Given the description of an element on the screen output the (x, y) to click on. 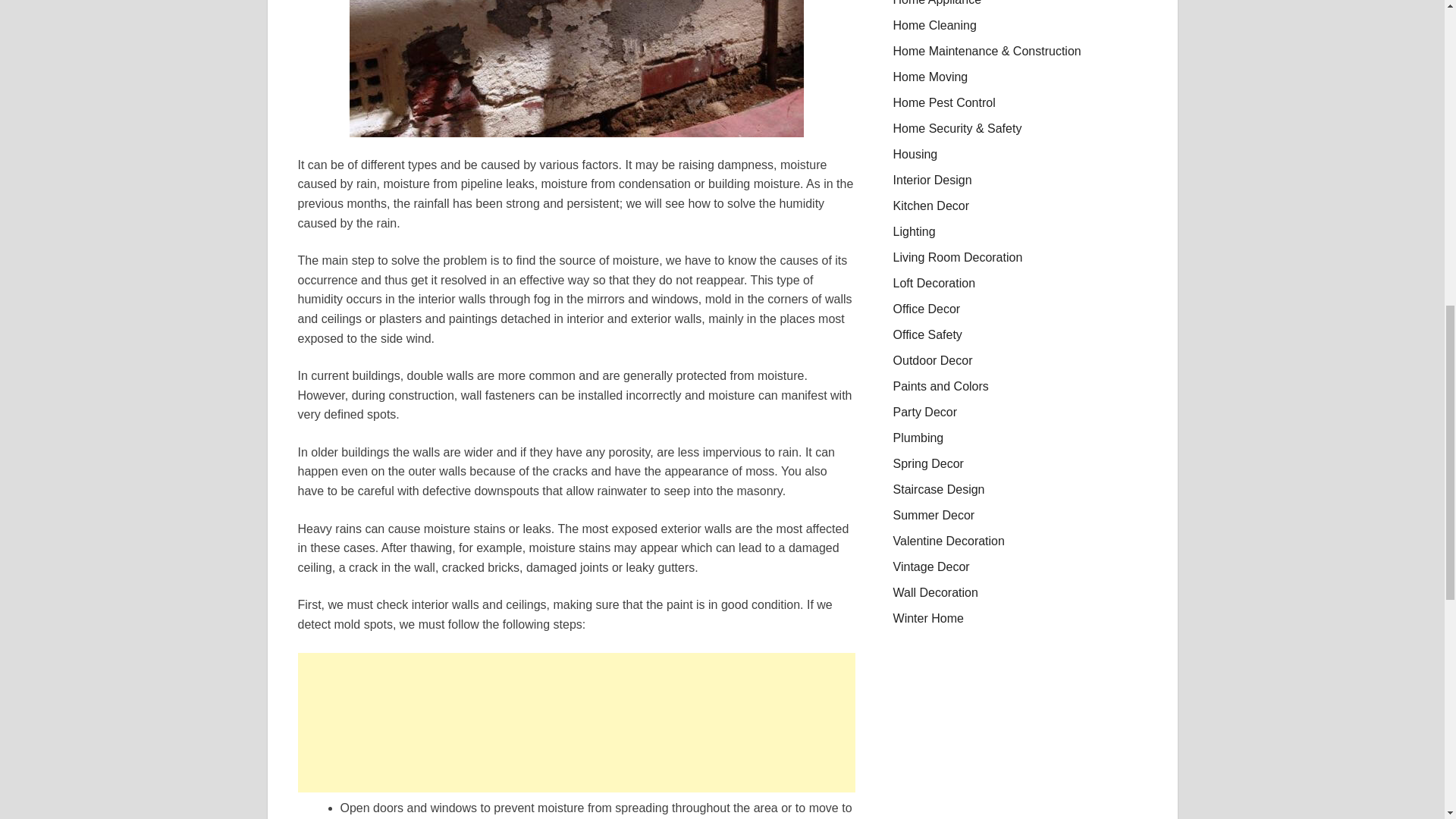
Advertisement (575, 722)
